Given the description of an element on the screen output the (x, y) to click on. 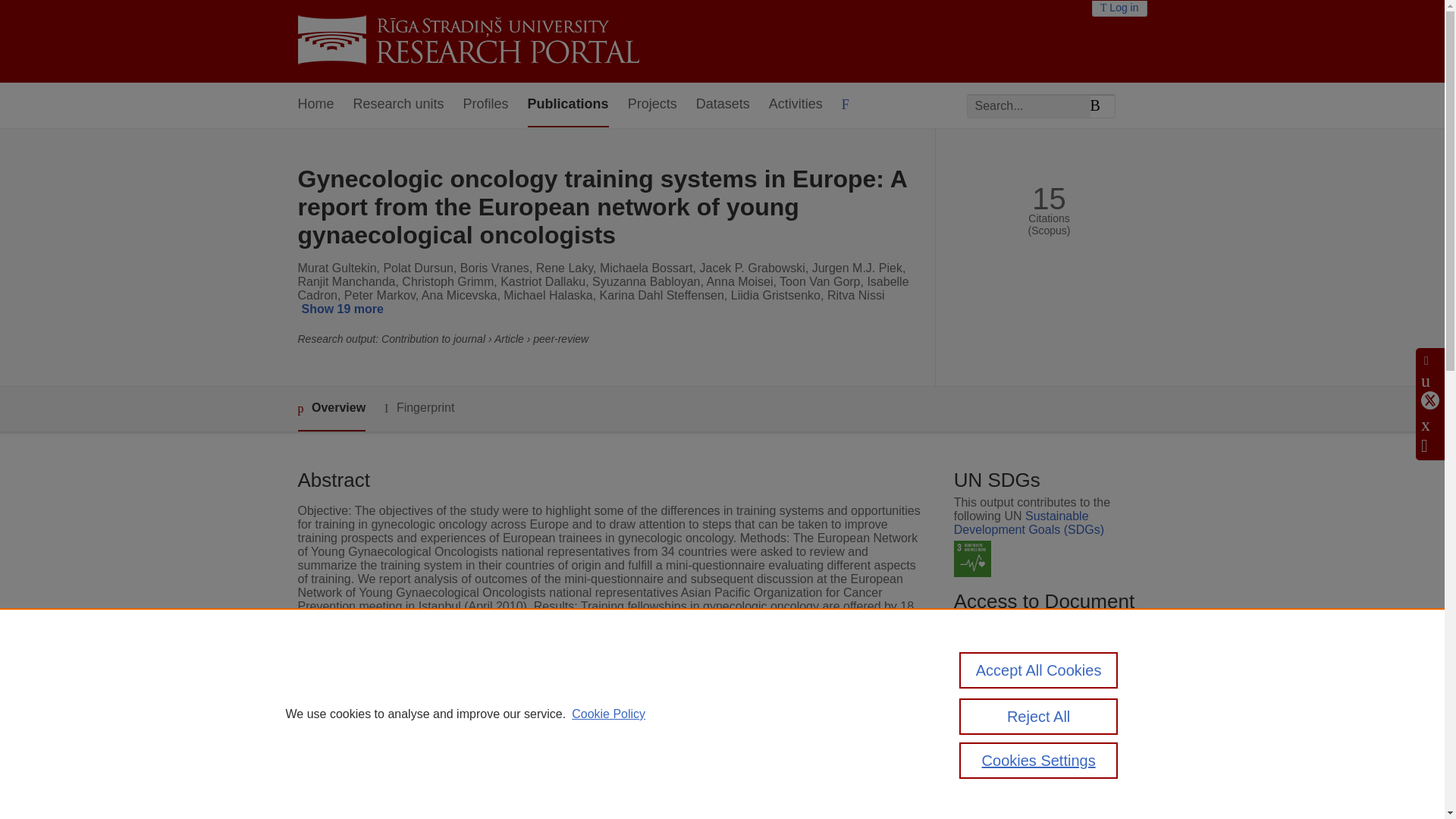
Log in (1120, 7)
Profiles (485, 104)
Datasets (722, 104)
Publications (567, 104)
SDG 3 - Good Health and Well-being (972, 559)
Link to publication in Scopus (1045, 697)
Projects (652, 104)
International Journal of Gynecological Cancer (628, 816)
Restricted (995, 721)
Research units (398, 104)
